Given the description of an element on the screen output the (x, y) to click on. 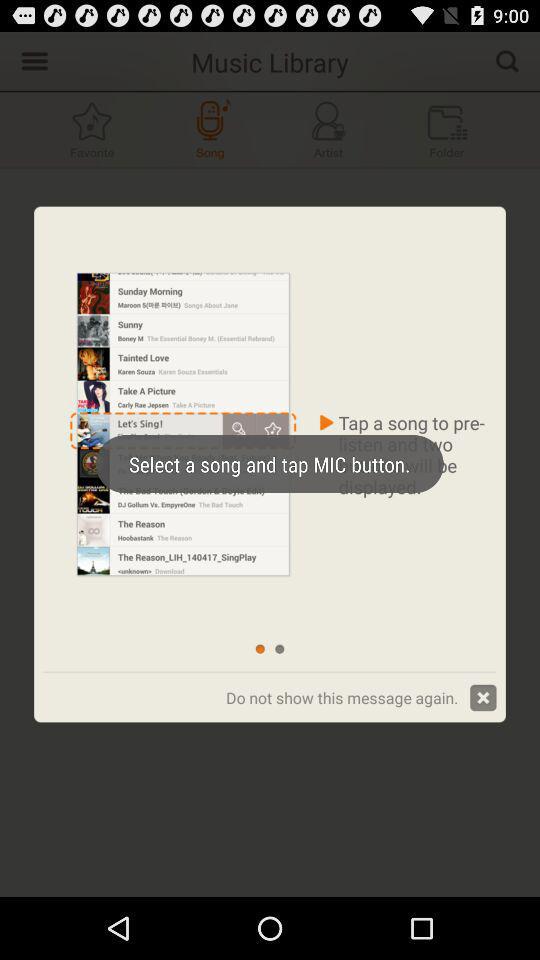
click on the icon which is to the left of song button (92, 130)
click on the text which is bottom of right corner (361, 697)
